Given the description of an element on the screen output the (x, y) to click on. 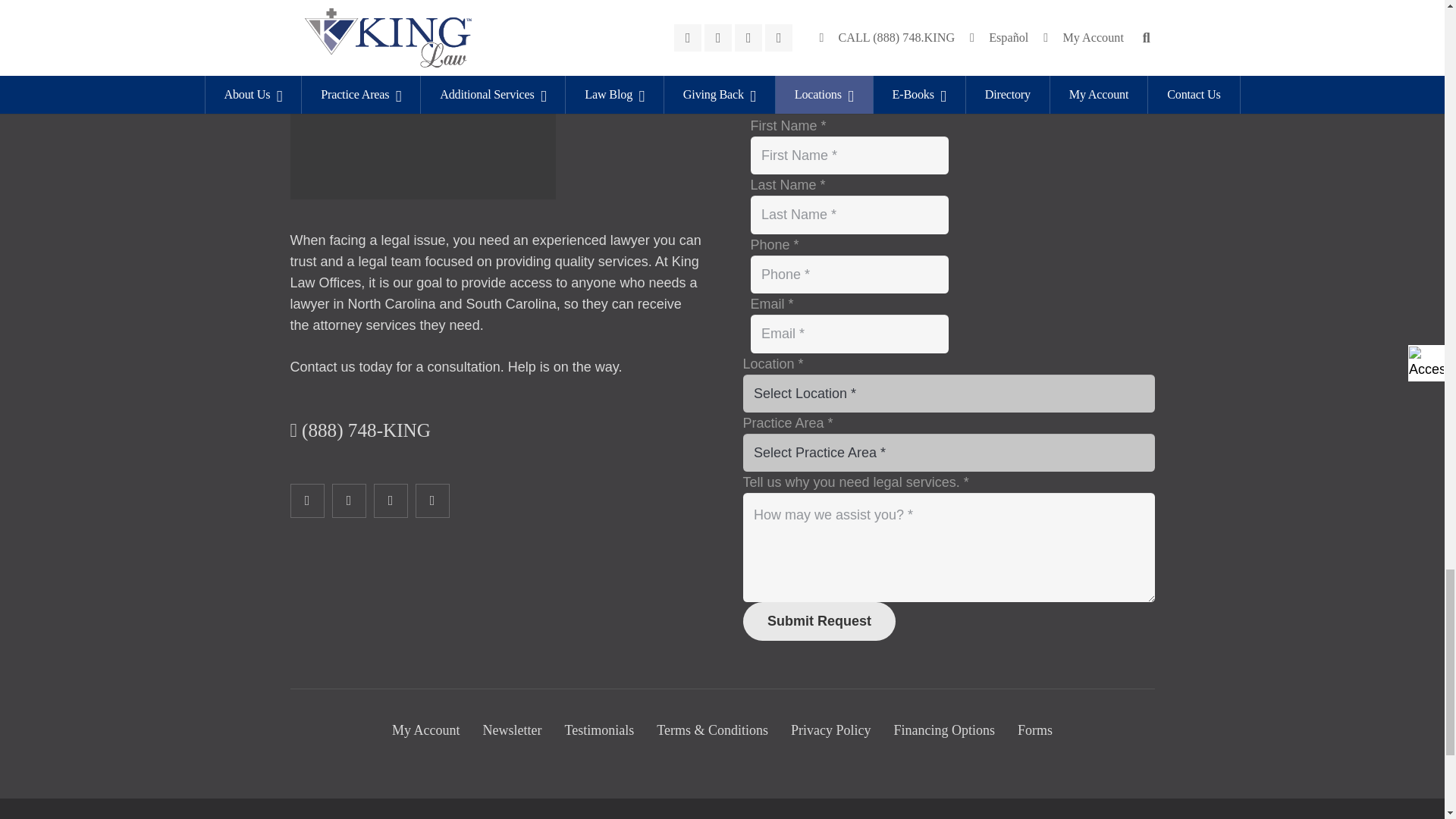
YouTube (431, 500)
LinkedIn (389, 500)
Facebook (306, 500)
Twitter (348, 500)
